Given the description of an element on the screen output the (x, y) to click on. 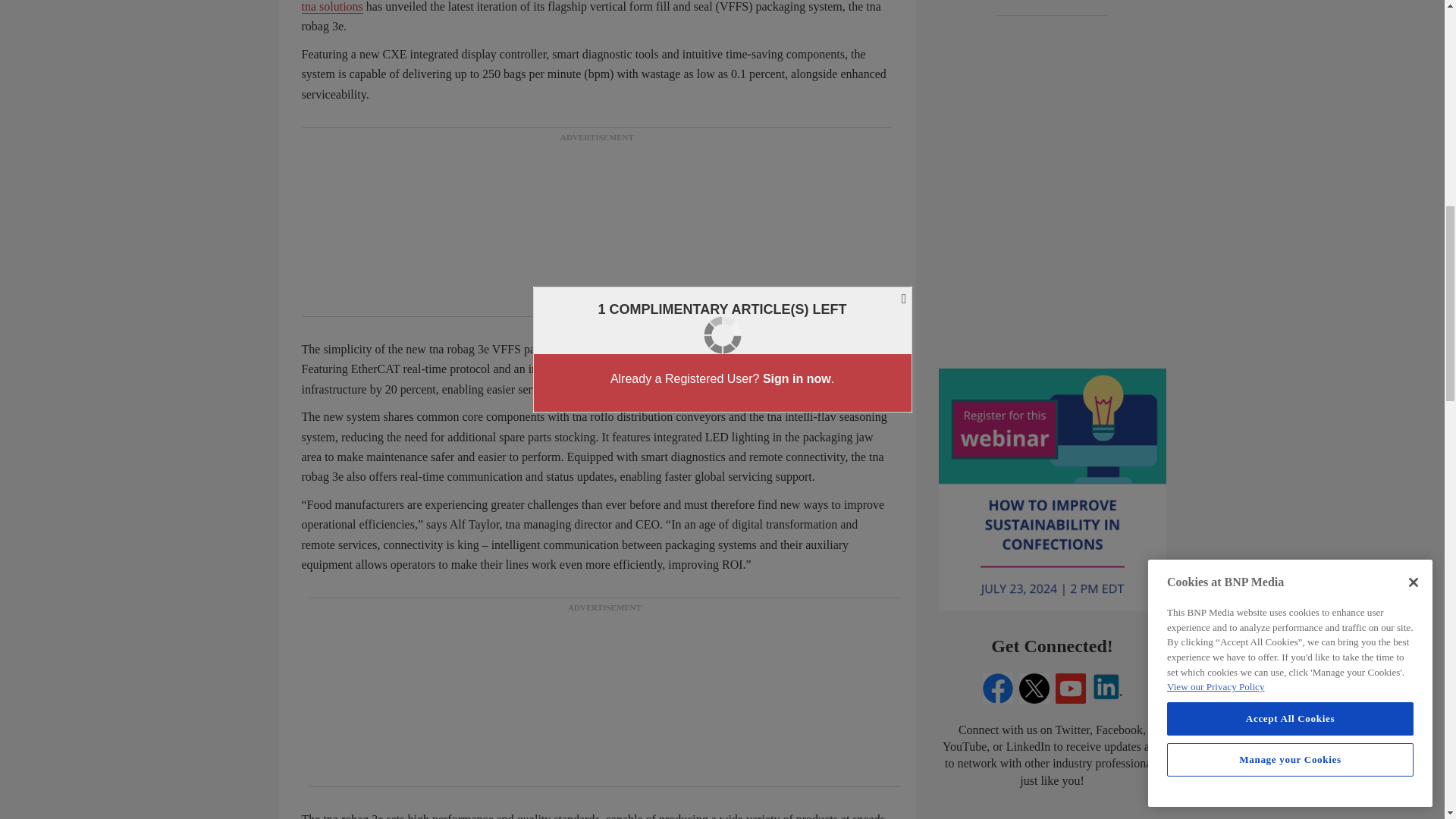
Interaction questions (1052, 276)
